Given the description of an element on the screen output the (x, y) to click on. 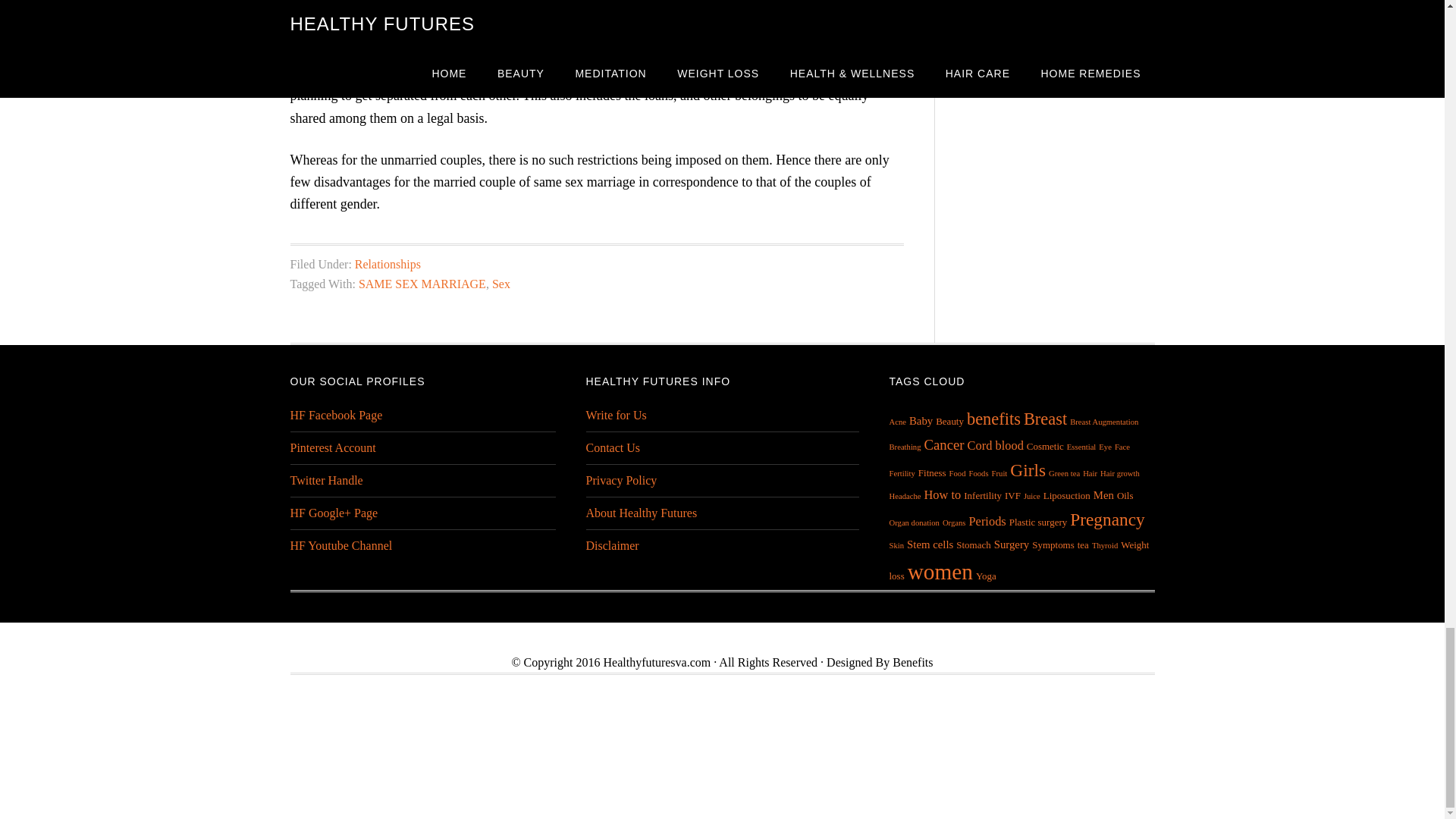
Guest post (615, 414)
Twitter (325, 480)
Contact Healthy Futures (612, 447)
Benefits (912, 662)
SAME SEX MARRIAGE (422, 283)
Sex (501, 283)
FB page (335, 414)
Relationships (387, 264)
Pin boards (332, 447)
